Given the description of an element on the screen output the (x, y) to click on. 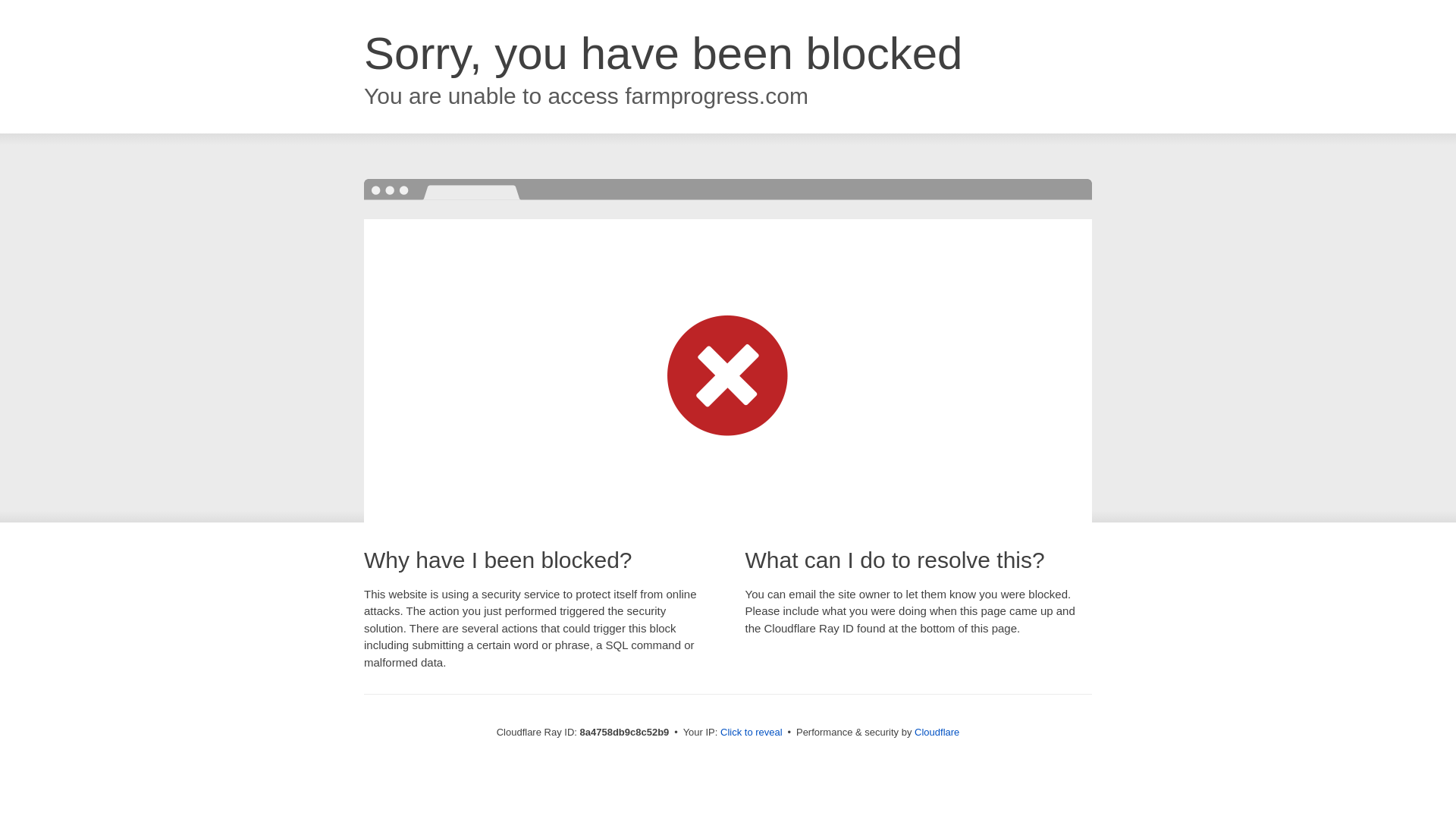
Click to reveal (751, 732)
Cloudflare (936, 731)
